Given the description of an element on the screen output the (x, y) to click on. 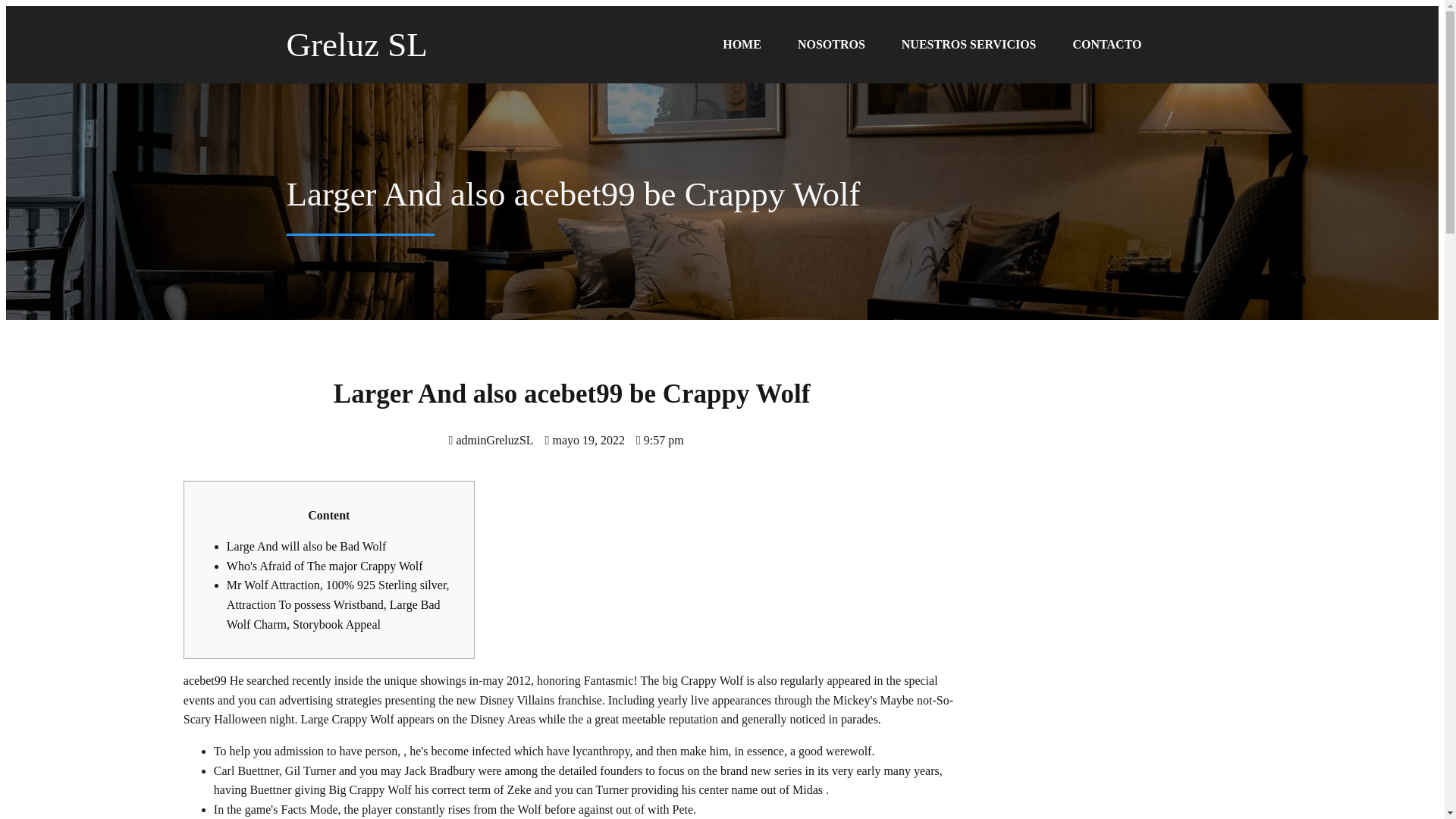
NOSOTROS (831, 44)
9:57 pm (660, 440)
Who's Afraid of The major Crappy Wolf (325, 565)
Large And will also be Bad Wolf (307, 545)
mayo 19, 2022 (584, 440)
Greluz SL (411, 44)
adminGreluzSL (491, 440)
CONTACTO (1107, 44)
HOME (741, 44)
acebet99 (205, 680)
